Given the description of an element on the screen output the (x, y) to click on. 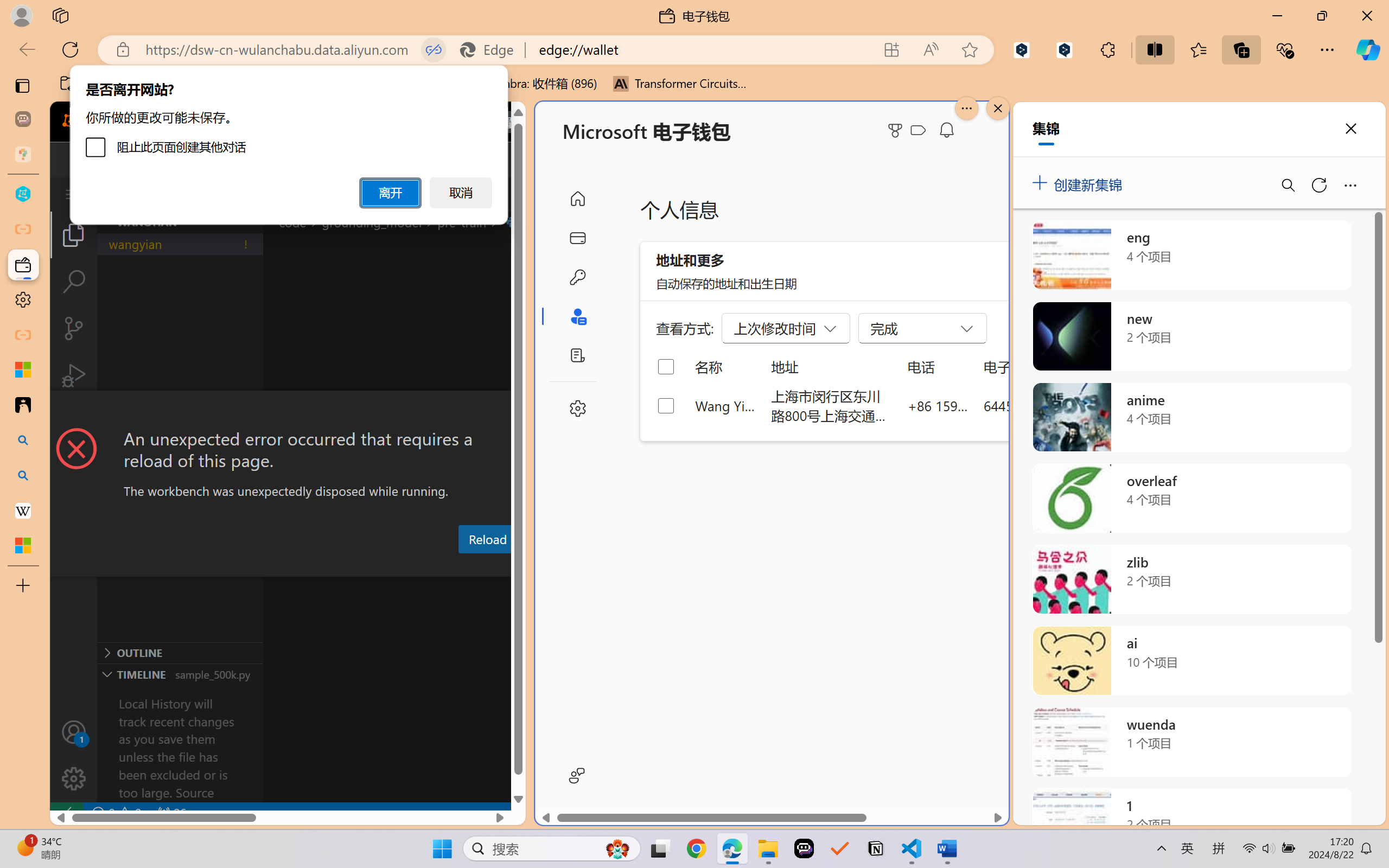
+86 159 0032 4640 (938, 405)
Google Chrome (696, 848)
Adjust indents and spacing - Microsoft Support (22, 369)
Manage (73, 778)
Microsoft Rewards (896, 129)
